Given the description of an element on the screen output the (x, y) to click on. 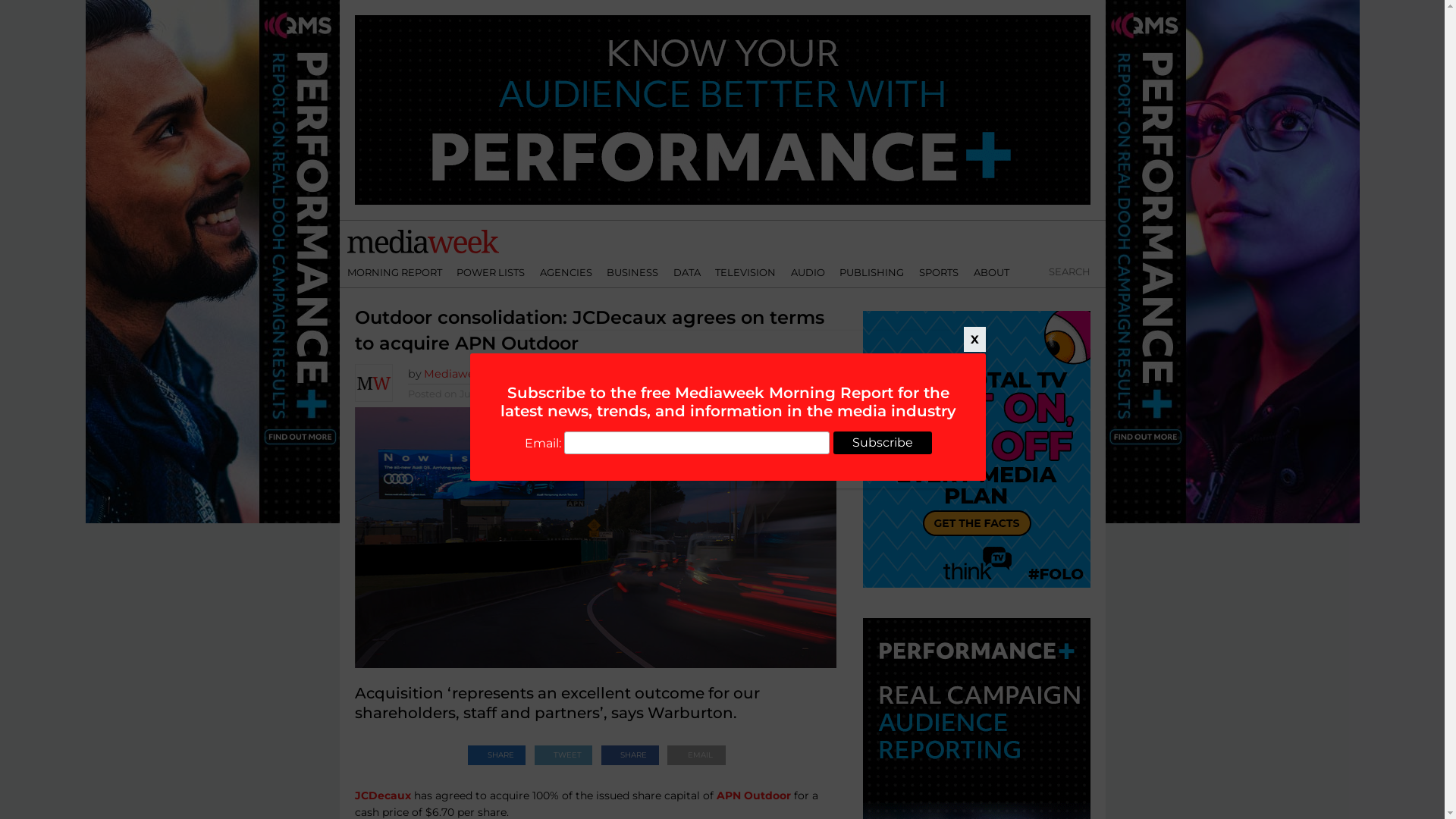
SPORTS Element type: text (938, 272)
ABOUT Element type: text (991, 272)
AGENCIES Element type: text (565, 272)
EMAIL Element type: text (695, 750)
PUBLISHING Element type: text (872, 272)
SHARE Element type: text (496, 750)
TELEVISION Element type: text (746, 272)
3rd party ad content Element type: hover (976, 448)
POWER LISTS Element type: text (490, 272)
Subscribe Element type: text (881, 442)
JCDecaux Element type: text (382, 795)
MORNING REPORT Element type: text (394, 272)
DATA Element type: text (686, 272)
AUDIO Element type: text (807, 272)
Mediaweek Element type: text (455, 373)
X Element type: text (974, 338)
TWEET Element type: text (563, 750)
APN Outdoor Element type: text (752, 795)
BUSINESS Element type: text (632, 272)
SHARE Element type: text (630, 750)
3rd party ad content Element type: hover (722, 109)
